Given the description of an element on the screen output the (x, y) to click on. 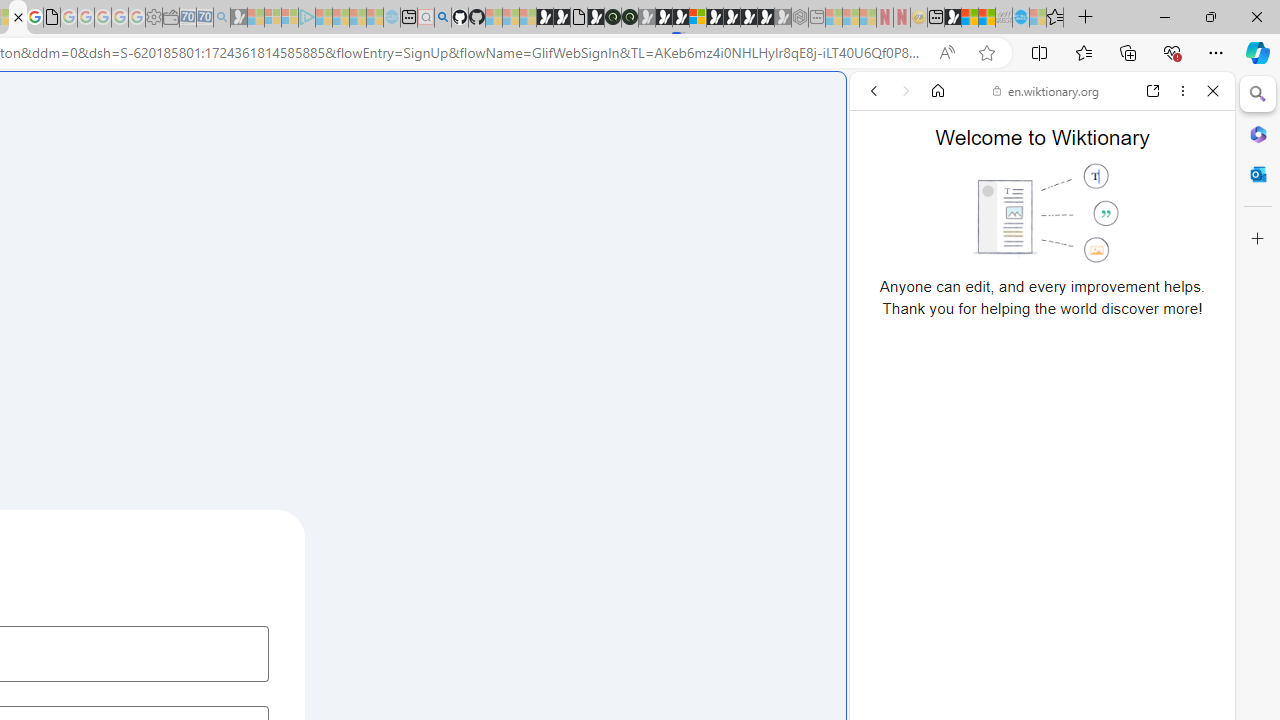
Sign in to your account (697, 17)
Frequently visited (418, 265)
Close split screen (844, 102)
